Given the description of an element on the screen output the (x, y) to click on. 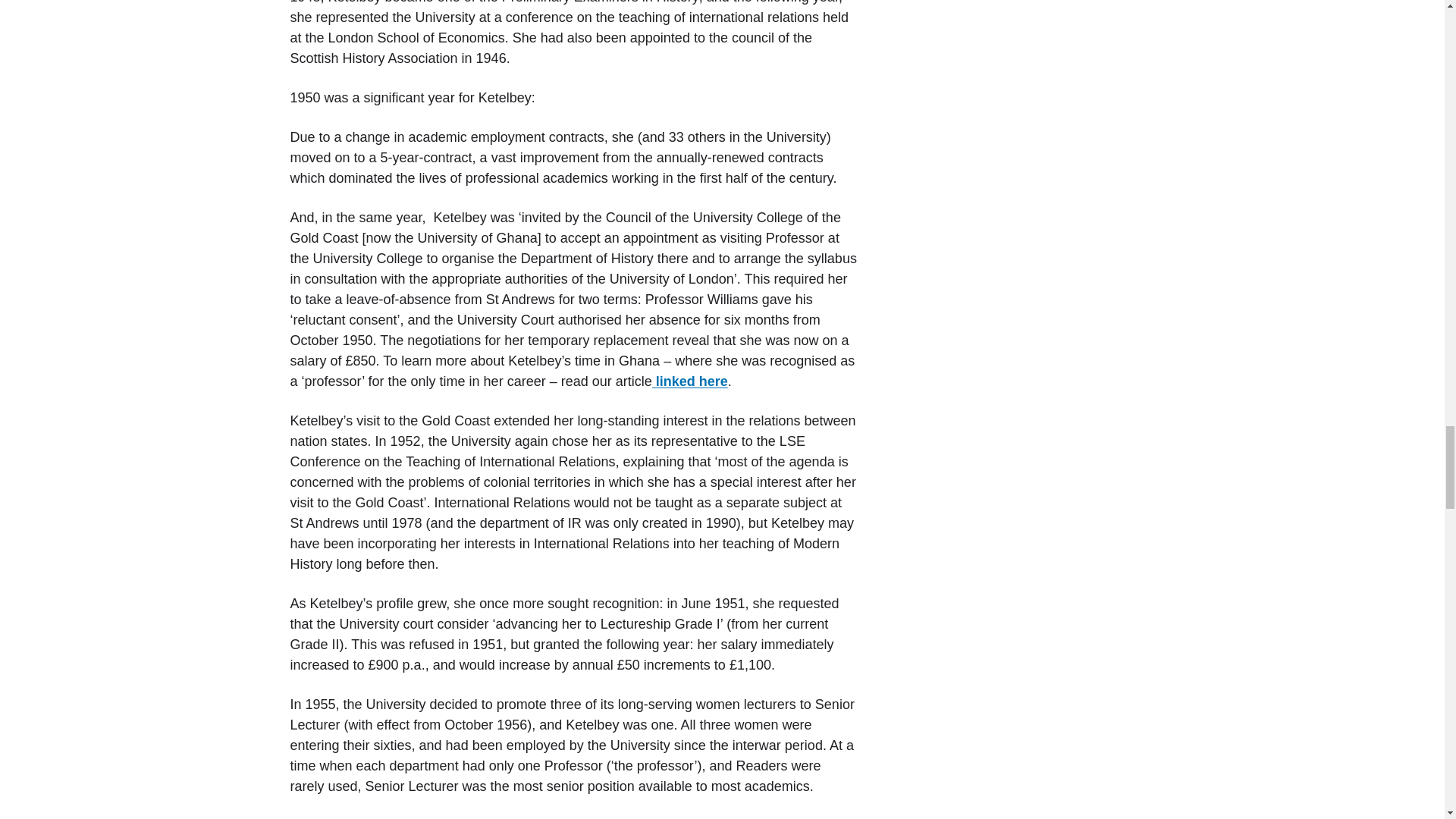
 linked here (690, 381)
